Given the description of an element on the screen output the (x, y) to click on. 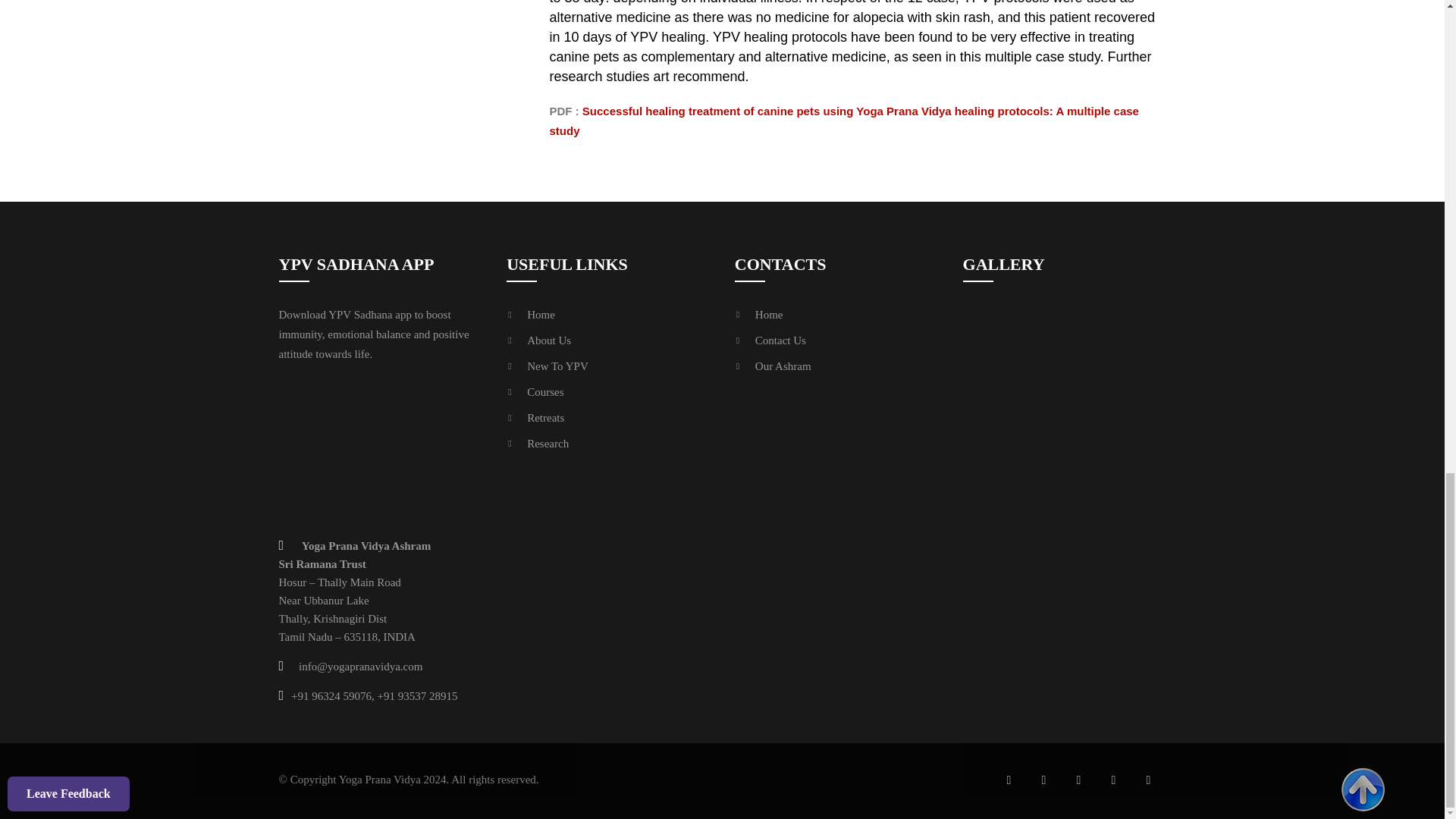
linkedin (1147, 780)
facebook (1007, 780)
twitter (1077, 780)
instagram (1112, 780)
youtube (1042, 780)
